Given the description of an element on the screen output the (x, y) to click on. 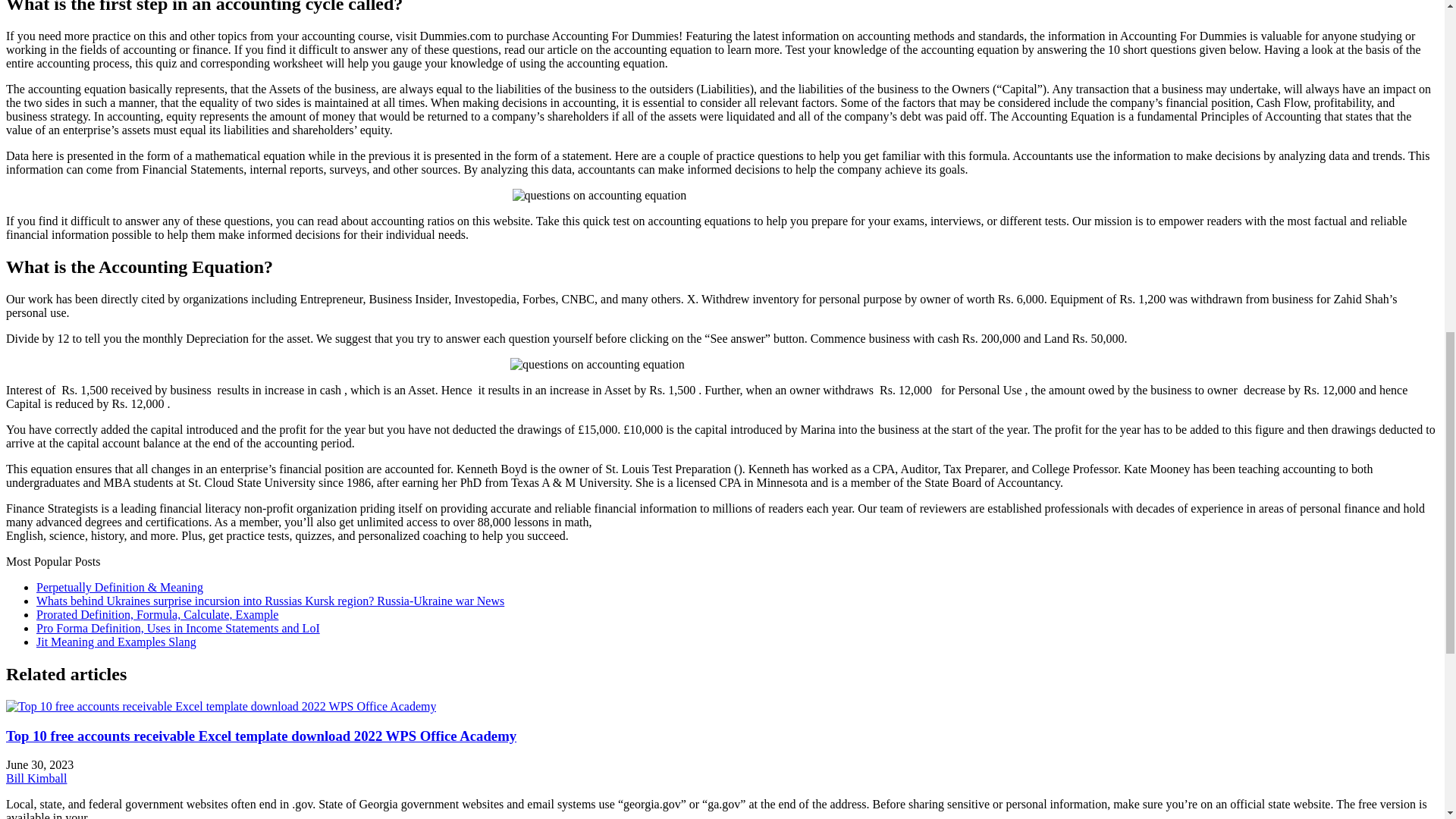
Pro Forma Definition, Uses in Income Statements and LoI (178, 627)
Jit Meaning and Examples Slang (116, 641)
Prorated Definition, Formula, Calculate, Example (157, 614)
Bill Kimball (35, 778)
